Given the description of an element on the screen output the (x, y) to click on. 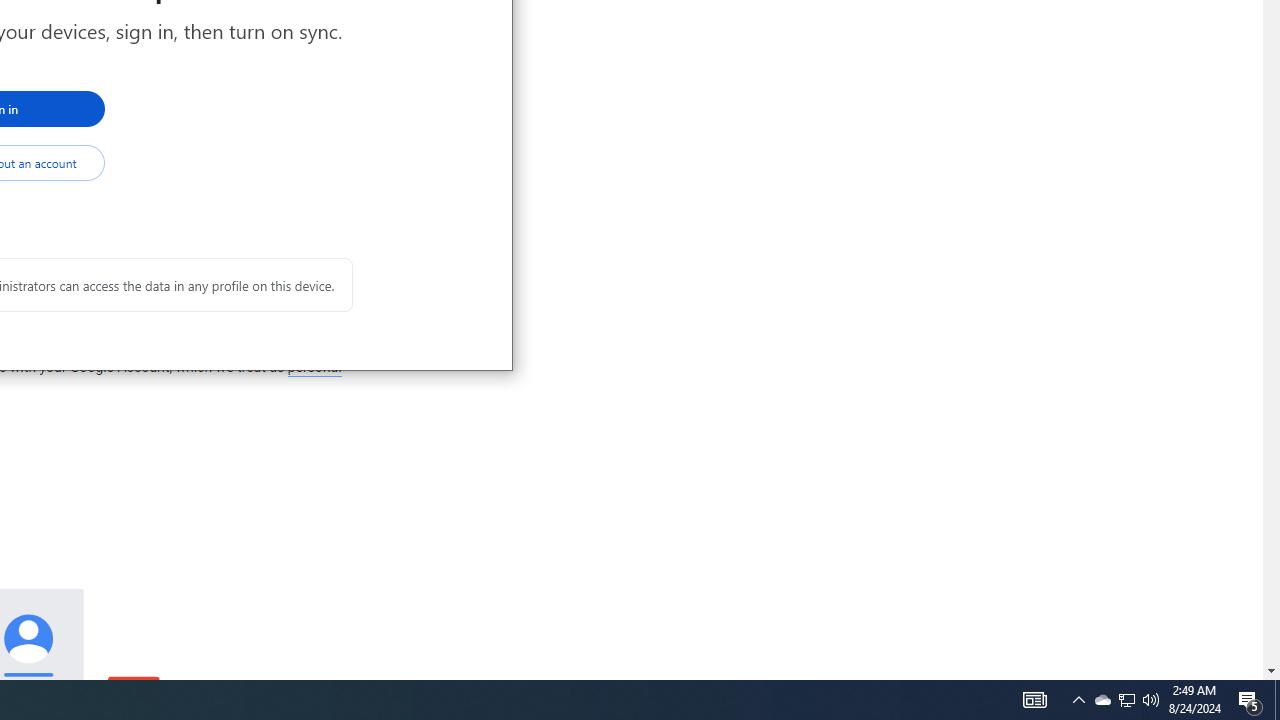
Notification Chevron (1078, 699)
Show desktop (1277, 699)
Q2790: 100% (1151, 699)
User Promoted Notification Area (1126, 699)
Action Center, 5 new notifications (1126, 699)
AutomationID: 4105 (1250, 699)
